Given the description of an element on the screen output the (x, y) to click on. 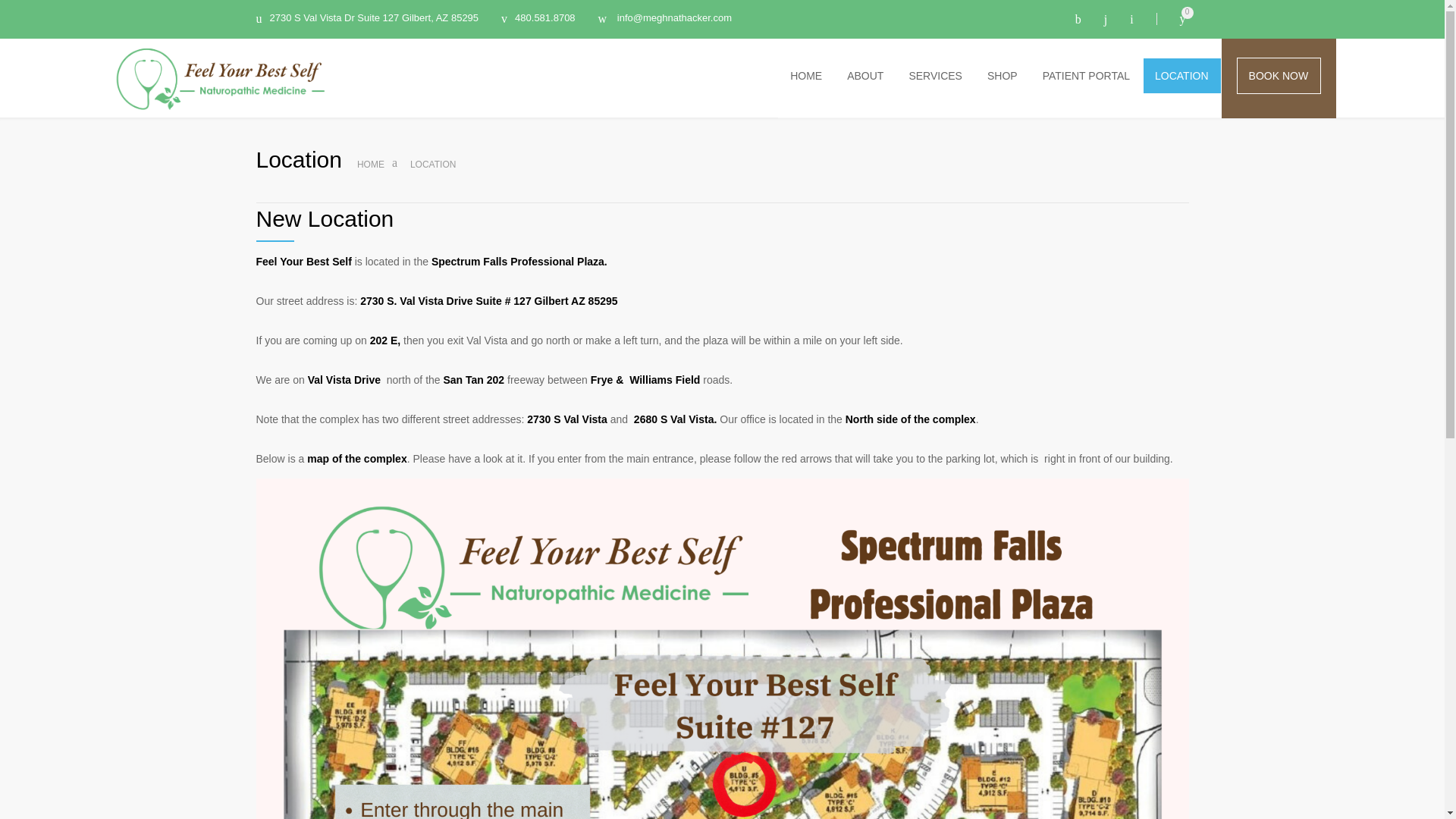
HOME (805, 75)
480.581.8708 (537, 19)
BOOK NOW (1279, 75)
LOCATION (1181, 75)
 0 (1172, 19)
Home (370, 163)
PATIENT PORTAL (1086, 75)
SERVICES (935, 75)
SHOP (1002, 75)
HOME (370, 163)
ABOUT (865, 75)
